Given the description of an element on the screen output the (x, y) to click on. 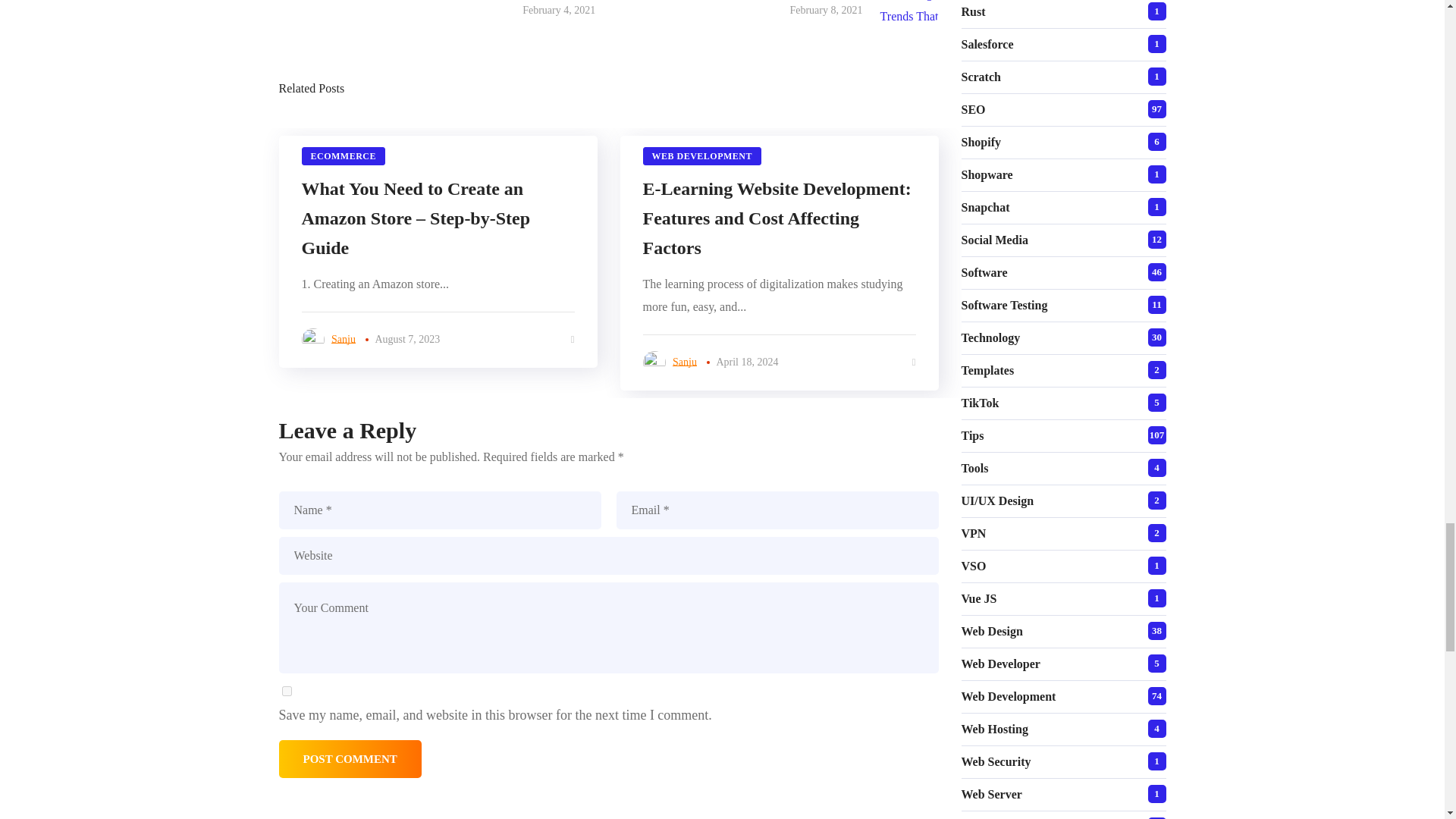
7 Graphic Design Trends That Will Influence 2021 (821, 11)
8 Tips For Social Media To Get New Clients (480, 11)
Post Comment (350, 759)
Website (609, 555)
yes (287, 691)
